Given the description of an element on the screen output the (x, y) to click on. 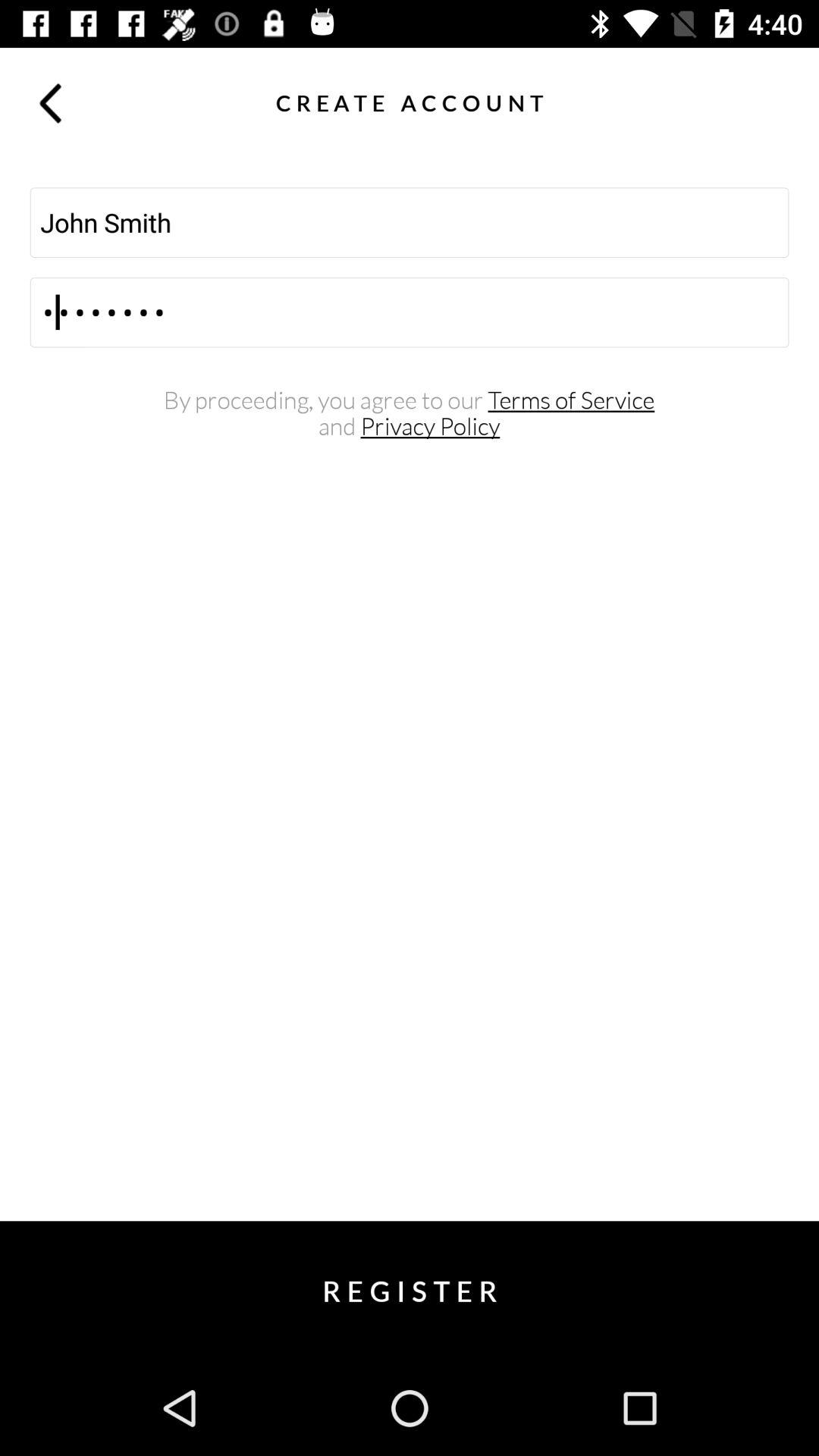
click the john smith (409, 222)
